Given the description of an element on the screen output the (x, y) to click on. 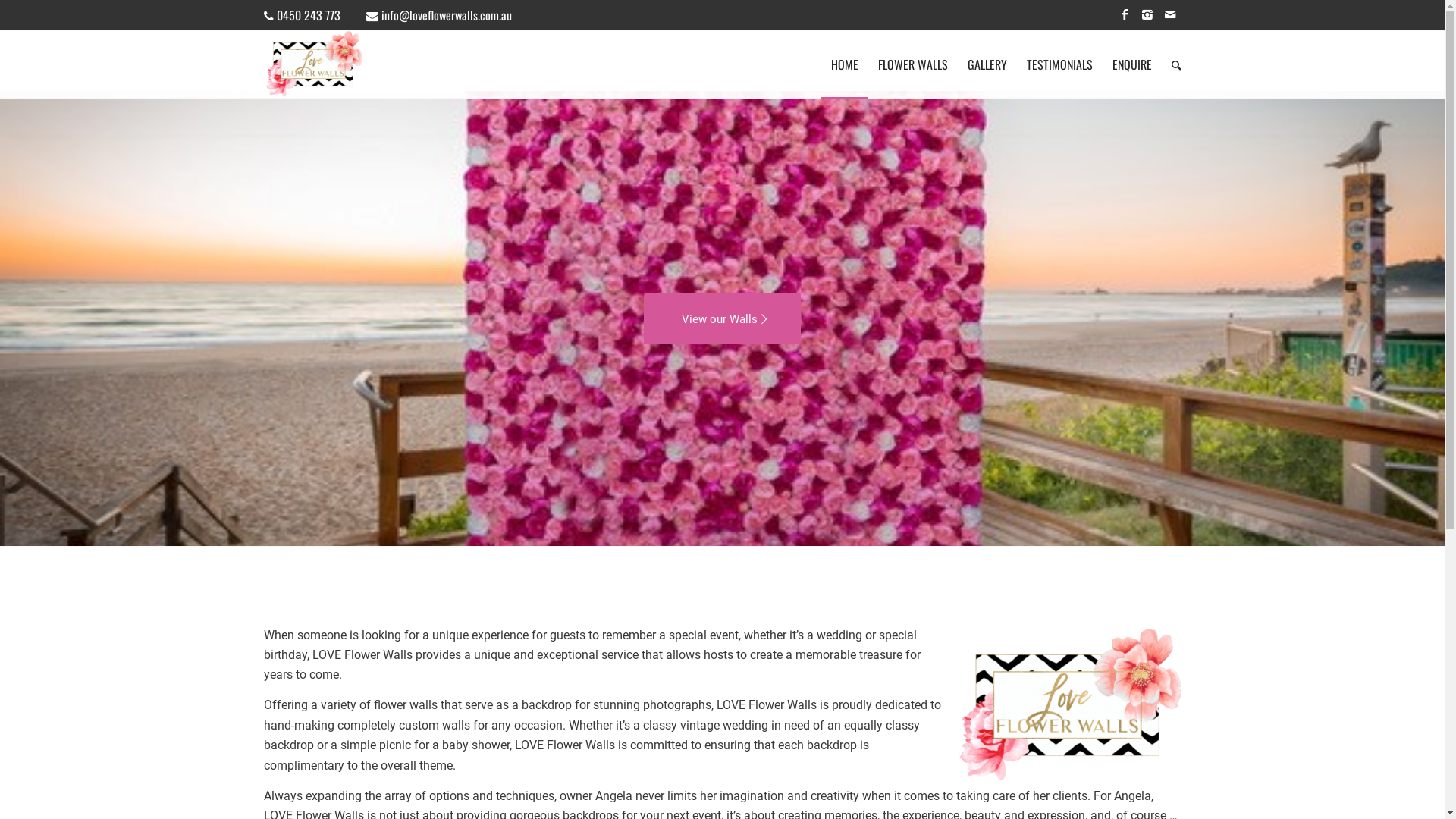
GALLERY Element type: text (986, 64)
Mail Element type: hover (1169, 15)
View our Walls Element type: text (721, 317)
TESTIMONIALS Element type: text (1058, 64)
Instagram Element type: hover (1146, 15)
FLOWER WALLS Element type: text (912, 64)
Facebook Element type: hover (1124, 15)
HOME Element type: text (843, 64)
ENQUIRE Element type: text (1131, 64)
